Given the description of an element on the screen output the (x, y) to click on. 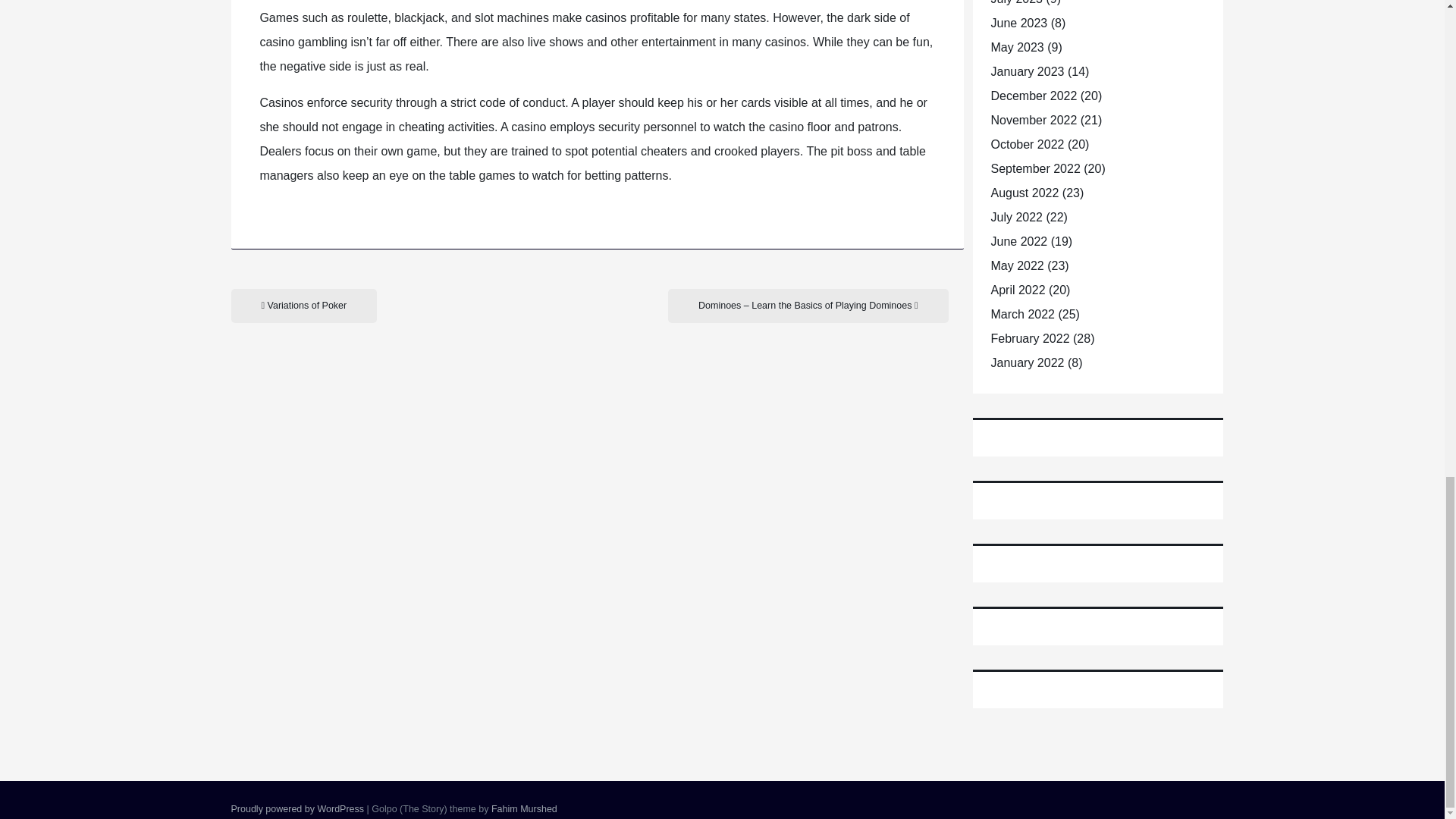
May 2023 (1016, 47)
August 2022 (1024, 192)
July 2022 (1016, 216)
Variations of Poker (303, 305)
October 2022 (1027, 144)
June 2022 (1018, 241)
July 2023 (1016, 2)
November 2022 (1033, 119)
June 2023 (1018, 22)
January 2023 (1027, 71)
September 2022 (1035, 168)
December 2022 (1033, 95)
